Given the description of an element on the screen output the (x, y) to click on. 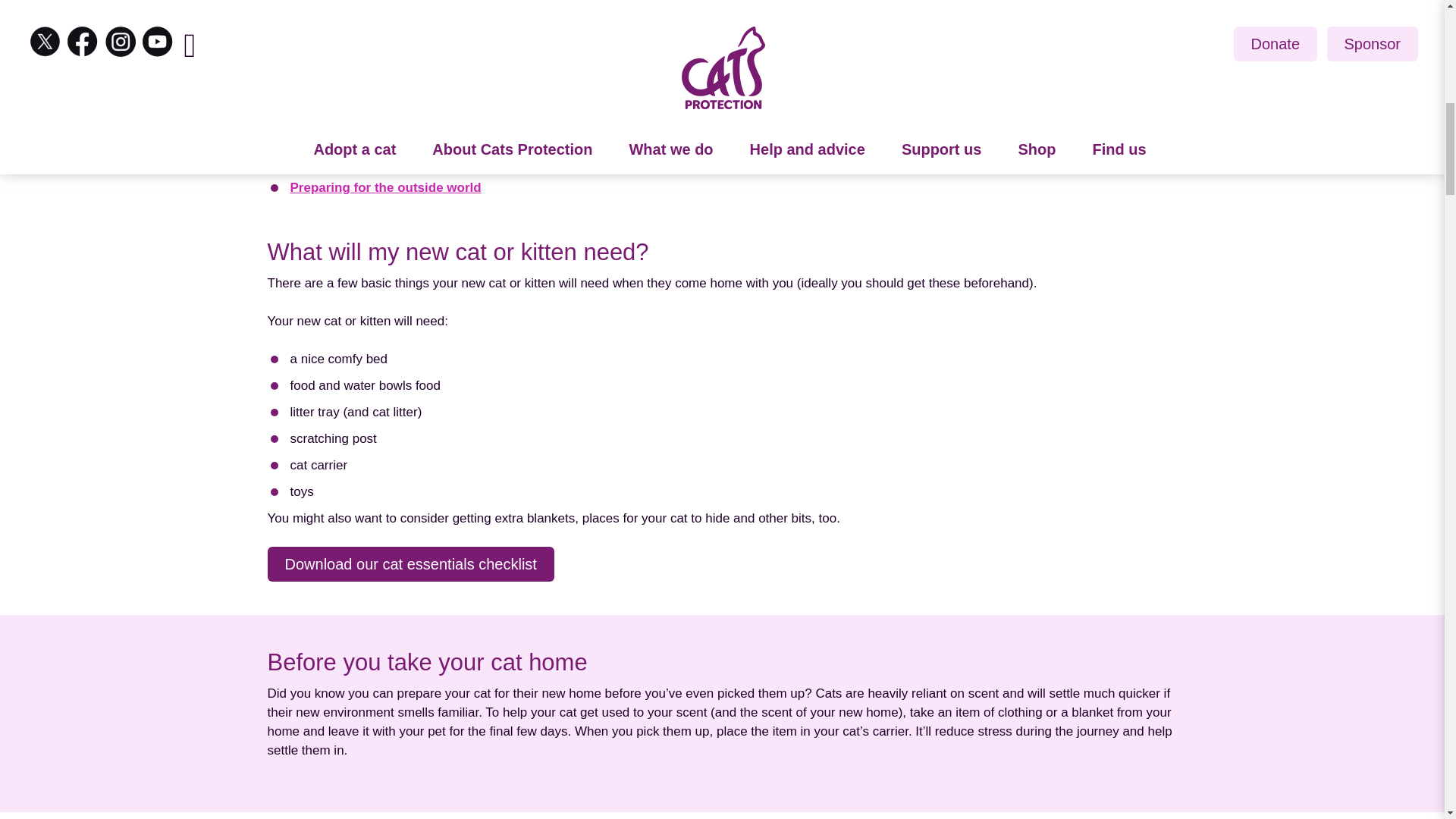
Jump to how to say hello to your new cat (389, 109)
Jump to introducing your cat to your family (395, 136)
Jump to introducing a kitten to their new home (405, 83)
Jump to introducing your cat to other pets (392, 162)
Jump to signs your cat is settling in well (386, 30)
Jump to preparing for the outside world (384, 189)
Jump to helping your cat explore their new home (421, 56)
Jump to signs your cat is struggling to settle (400, 6)
